Given the description of an element on the screen output the (x, y) to click on. 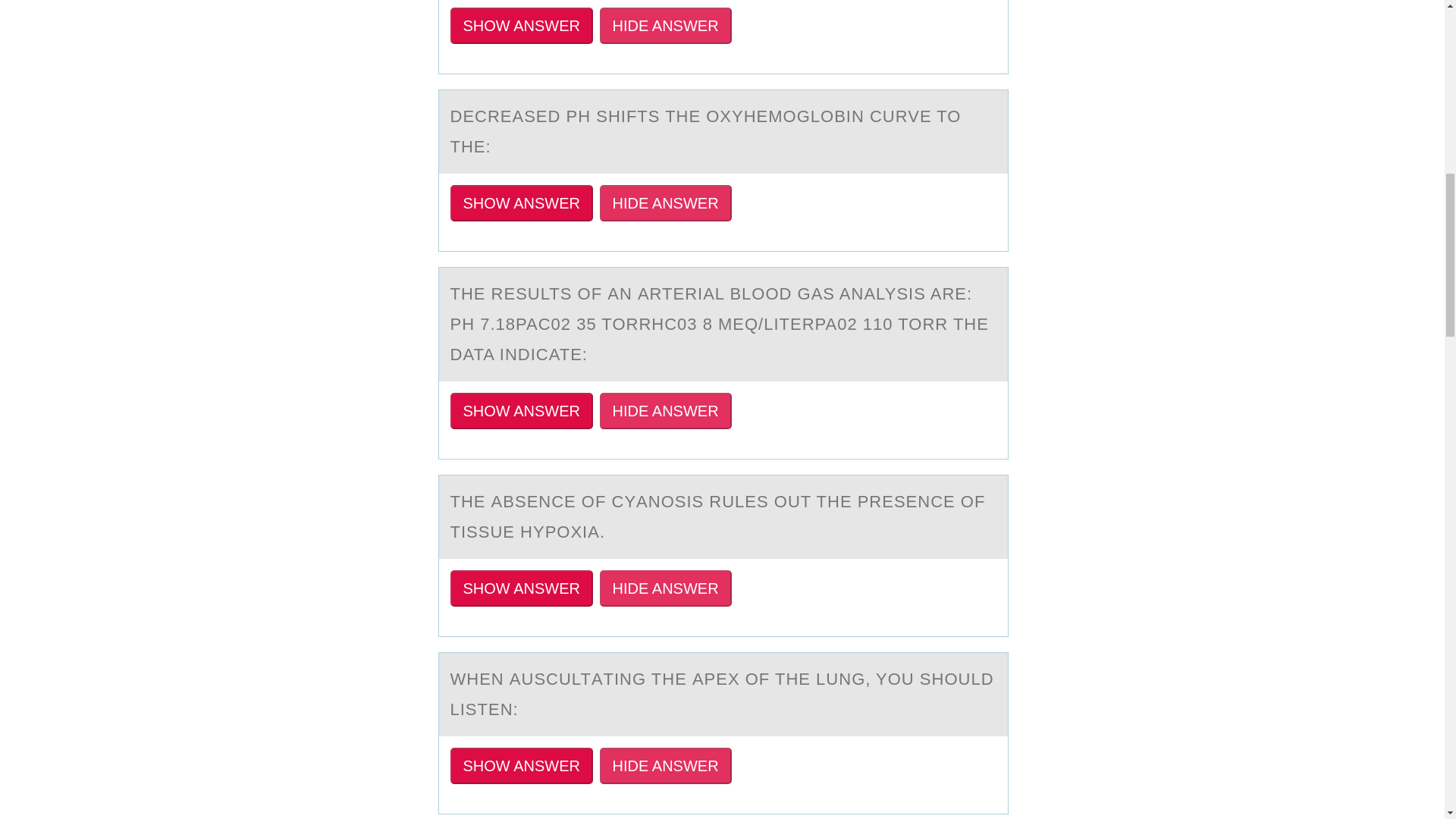
SHOW ANSWER (520, 588)
SHOW ANSWER (520, 411)
HIDE ANSWER (665, 765)
HIDE ANSWER (665, 411)
SHOW ANSWER (520, 25)
SHOW ANSWER (520, 765)
HIDE ANSWER (665, 588)
SHOW ANSWER (520, 203)
HIDE ANSWER (665, 203)
HIDE ANSWER (665, 25)
